Given the description of an element on the screen output the (x, y) to click on. 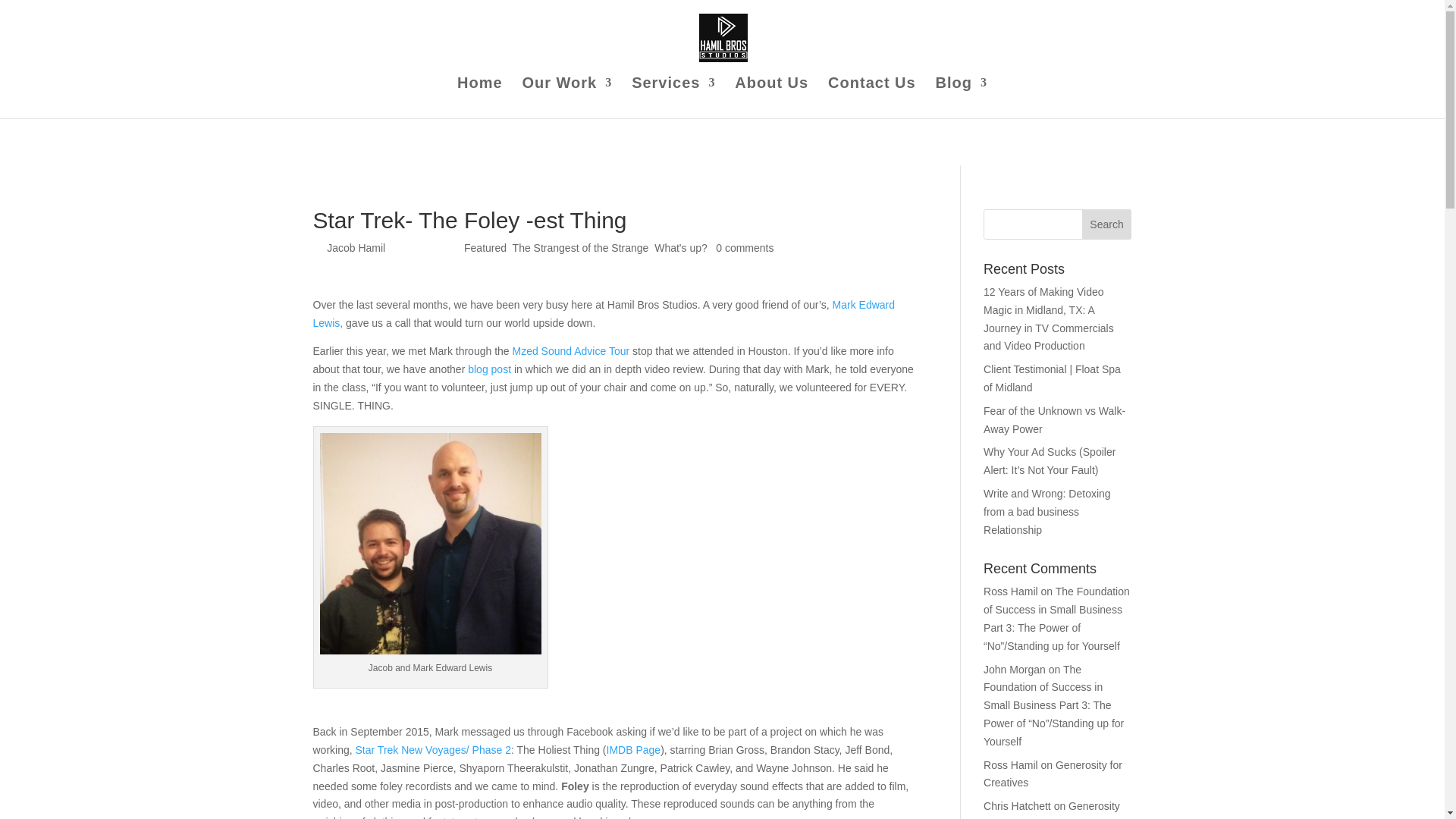
Home (479, 96)
blog post (489, 369)
Search (1106, 224)
Jacob Hamil (355, 247)
The Strangest of the Strange (580, 247)
About Us (771, 96)
Featured (485, 247)
IMDB Page (634, 749)
Blog (961, 96)
What's up? (680, 247)
Services (672, 96)
Contact Us (871, 96)
Our Work (566, 96)
Mark Edward Lewis, (604, 313)
Mzed Sound Advice Tour (571, 350)
